Given the description of an element on the screen output the (x, y) to click on. 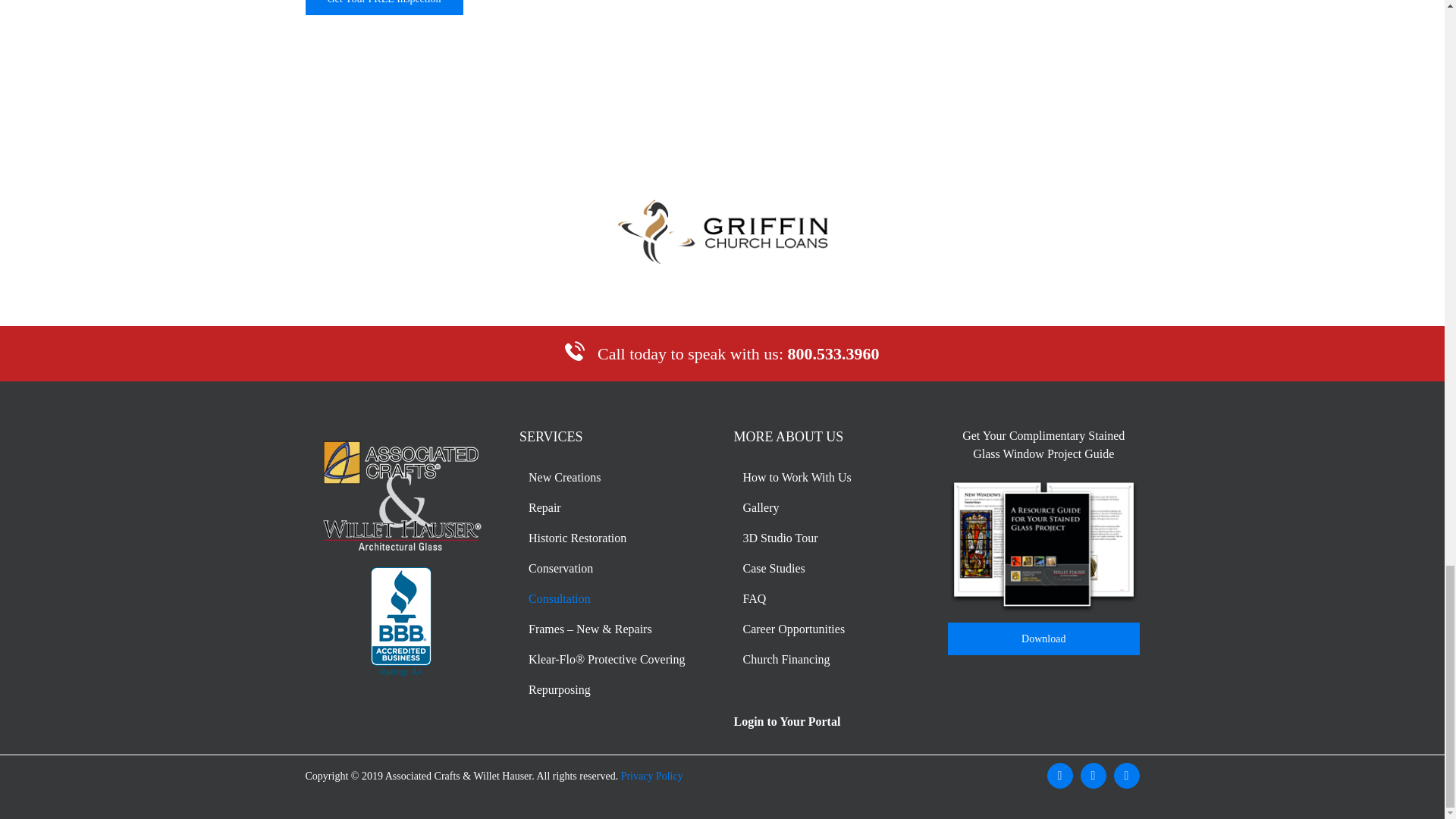
church-loan-logo (721, 232)
Facebook (1058, 775)
Instagram (1125, 775)
X (1092, 775)
